Given the description of an element on the screen output the (x, y) to click on. 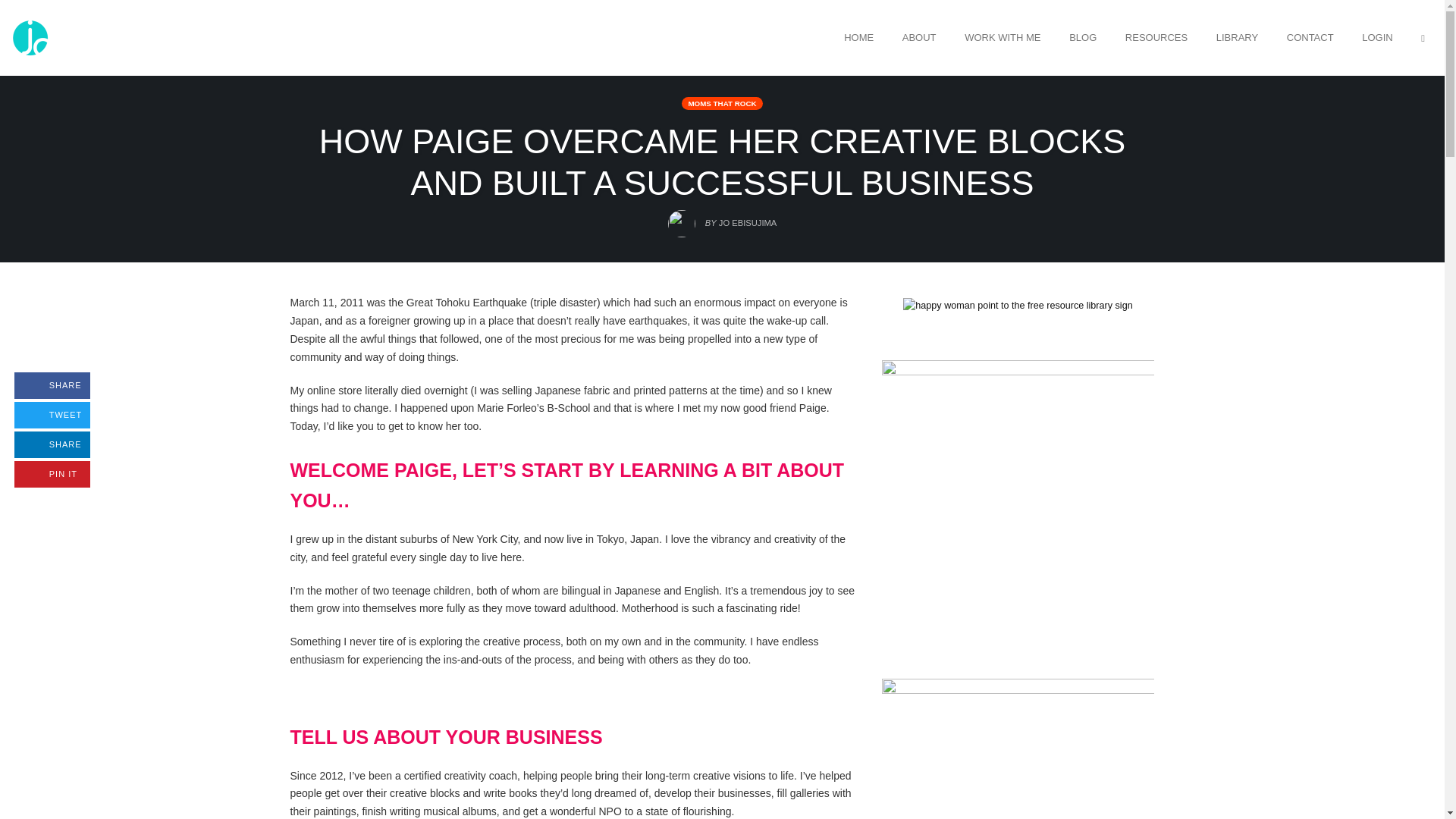
LIBRARY (1237, 37)
CONTACT (1310, 37)
jojoebi (30, 37)
MOMS THAT ROCK (52, 385)
OPEN SEARCH FORM (721, 103)
BLOG (1422, 37)
HOME (52, 444)
